Given the description of an element on the screen output the (x, y) to click on. 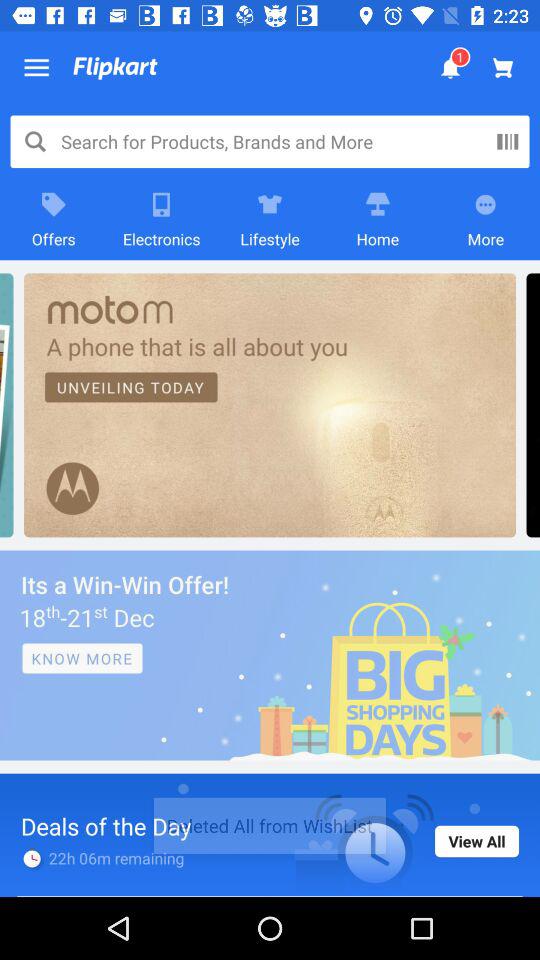
click on the bell icon at the top of the page (451, 67)
